Given the description of an element on the screen output the (x, y) to click on. 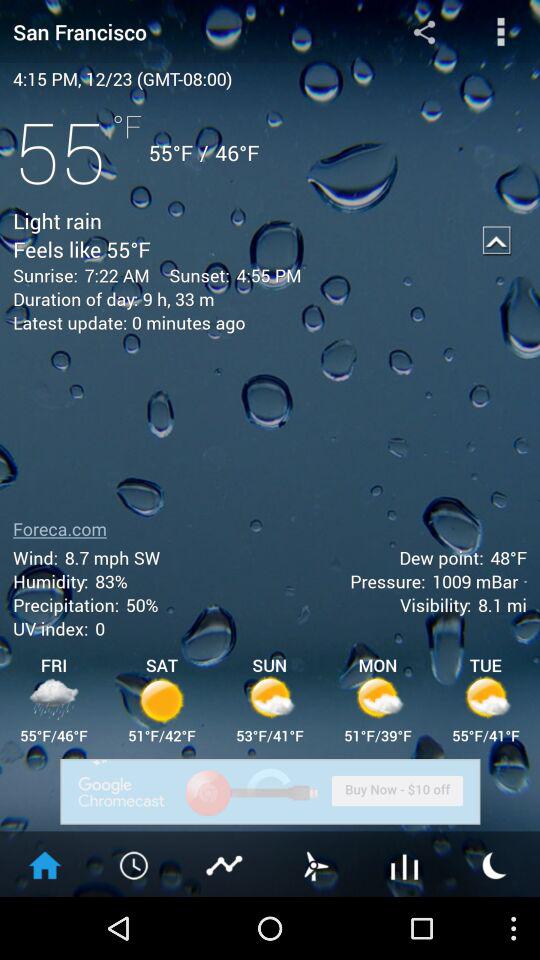
view graph (225, 864)
